Given the description of an element on the screen output the (x, y) to click on. 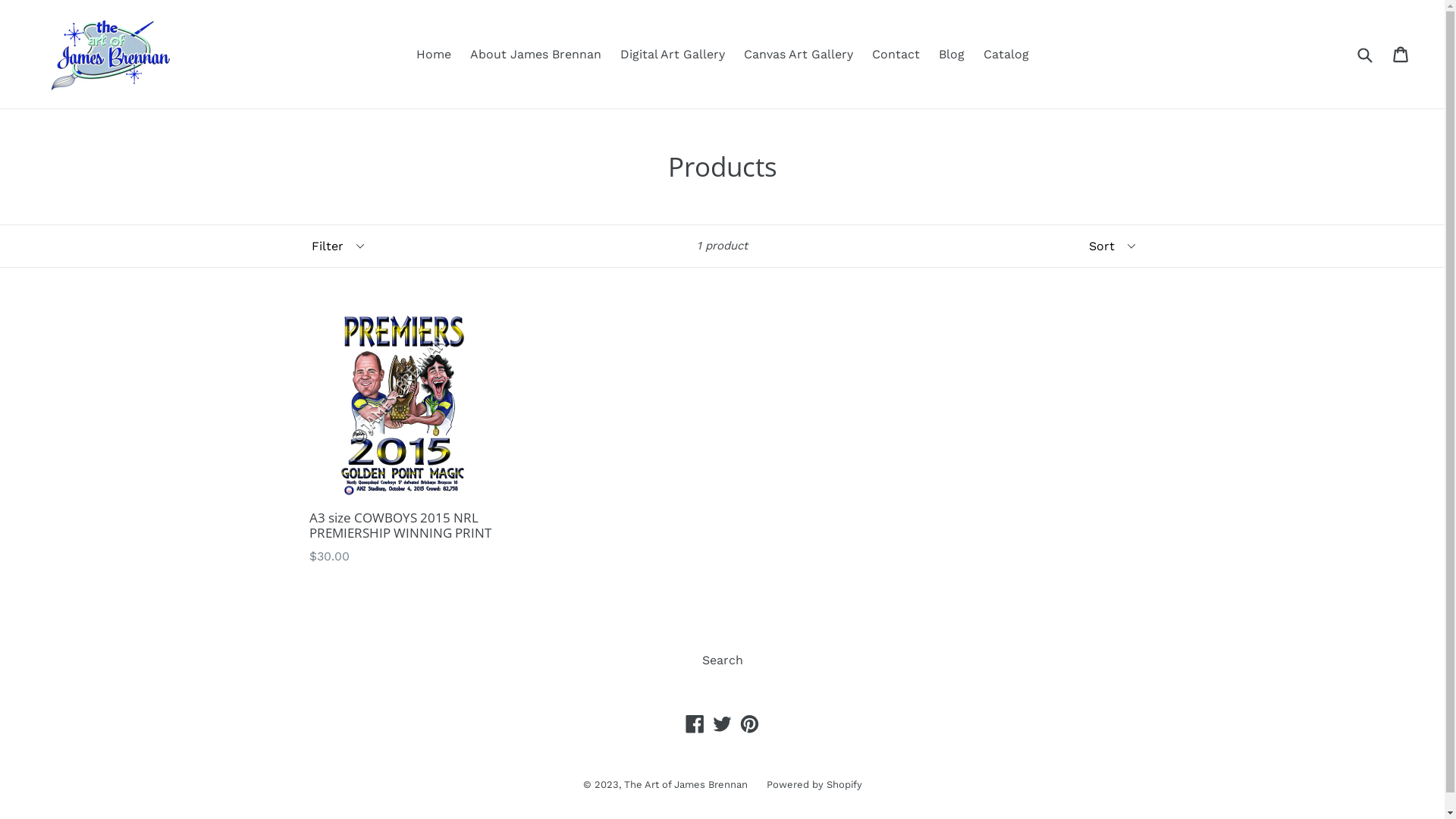
About James Brennan Element type: text (535, 53)
Cart
Cart Element type: text (1401, 53)
Contact Element type: text (895, 53)
Powered by Shopify Element type: text (813, 784)
Digital Art Gallery Element type: text (672, 53)
Submit Element type: text (1363, 53)
Catalog Element type: text (1005, 53)
Search Element type: text (722, 659)
Home Element type: text (432, 53)
Blog Element type: text (951, 53)
Pinterest Element type: text (749, 723)
Facebook Element type: text (694, 723)
The Art of James Brennan Element type: text (684, 784)
Twitter Element type: text (722, 723)
Canvas Art Gallery Element type: text (797, 53)
